Given the description of an element on the screen output the (x, y) to click on. 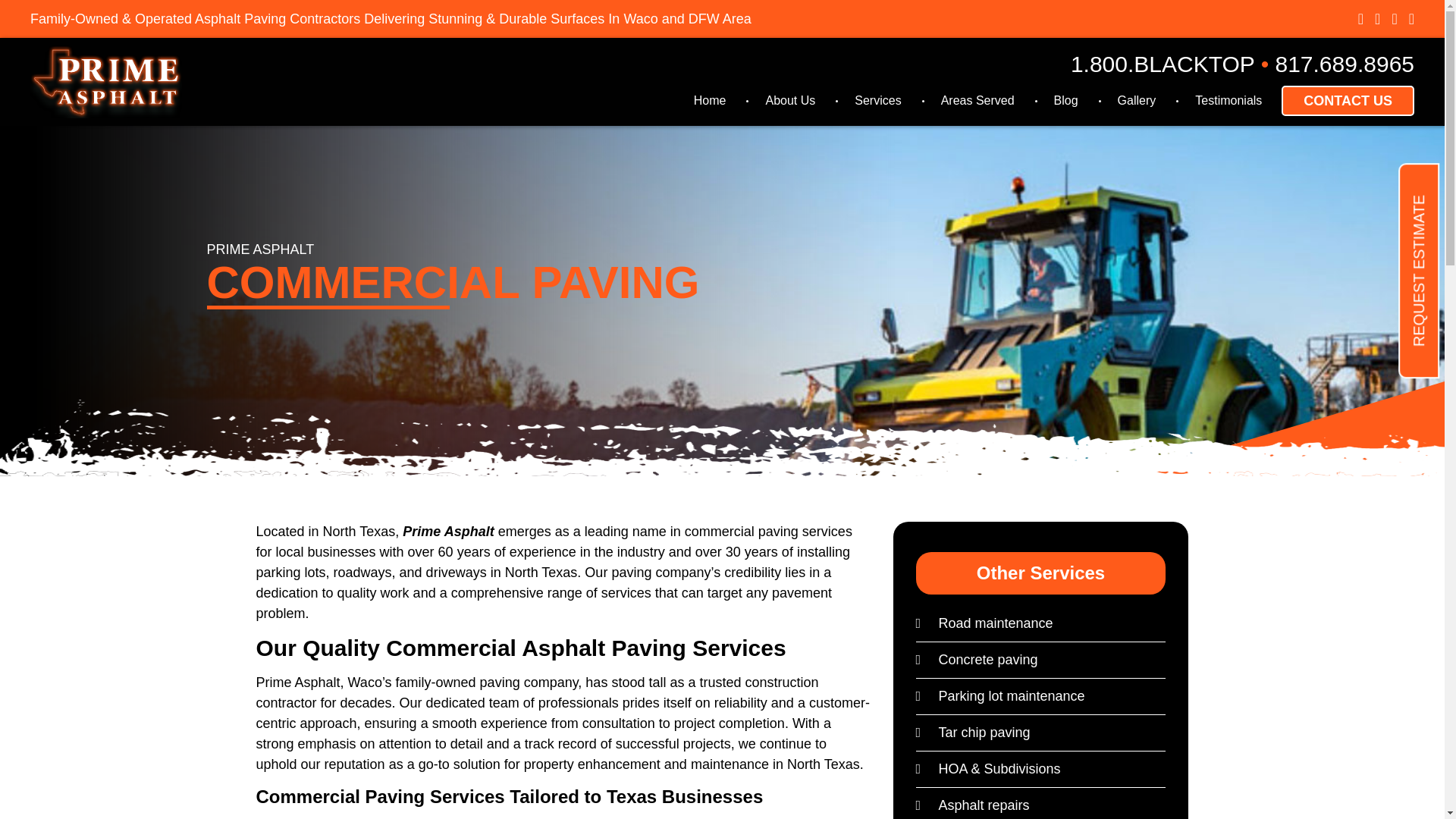
Home (709, 100)
Services (877, 100)
Areas Served (977, 100)
About Us (789, 100)
